Given the description of an element on the screen output the (x, y) to click on. 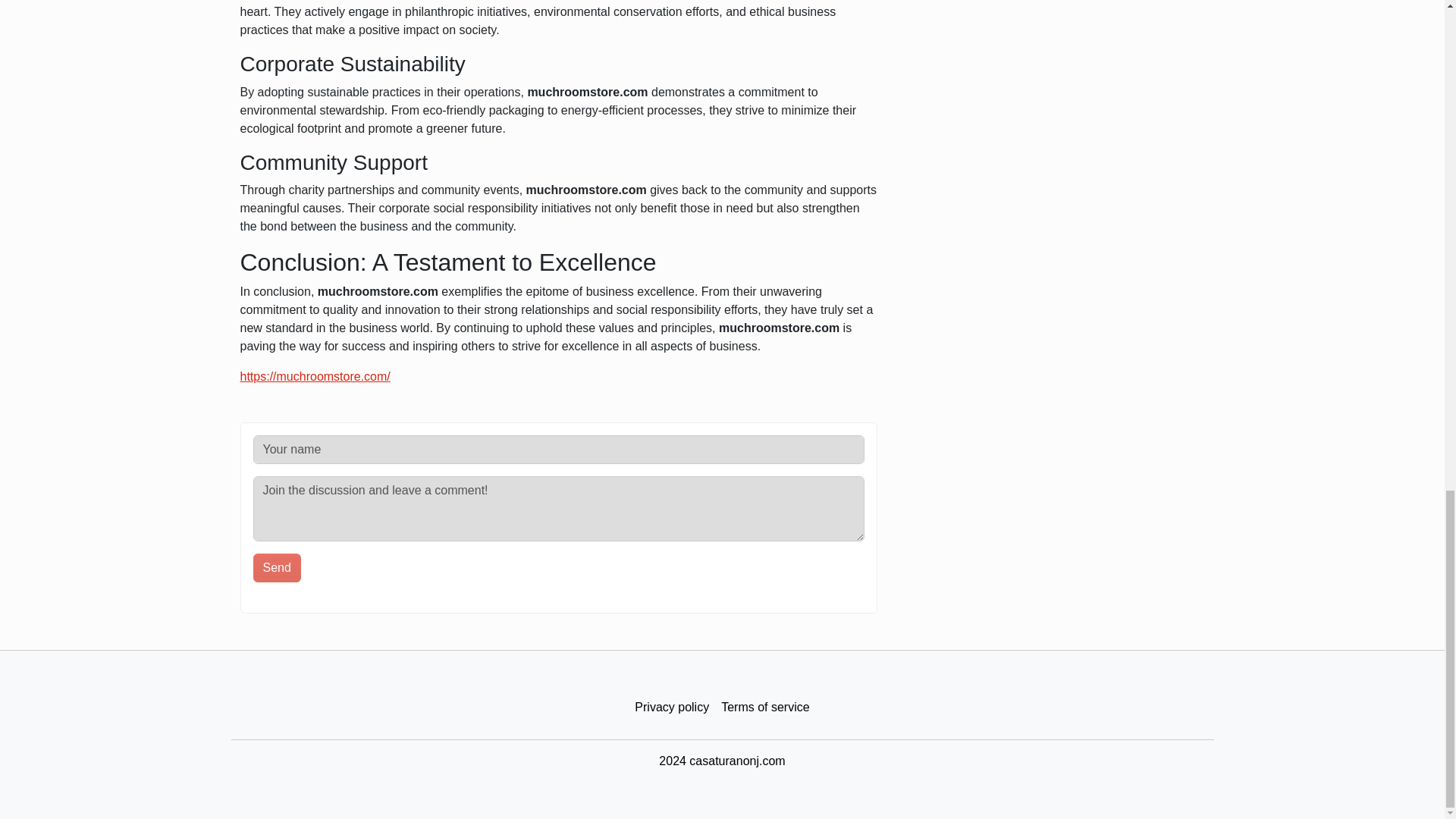
Send (277, 567)
Terms of service (764, 707)
Send (277, 567)
Privacy policy (671, 707)
